Given the description of an element on the screen output the (x, y) to click on. 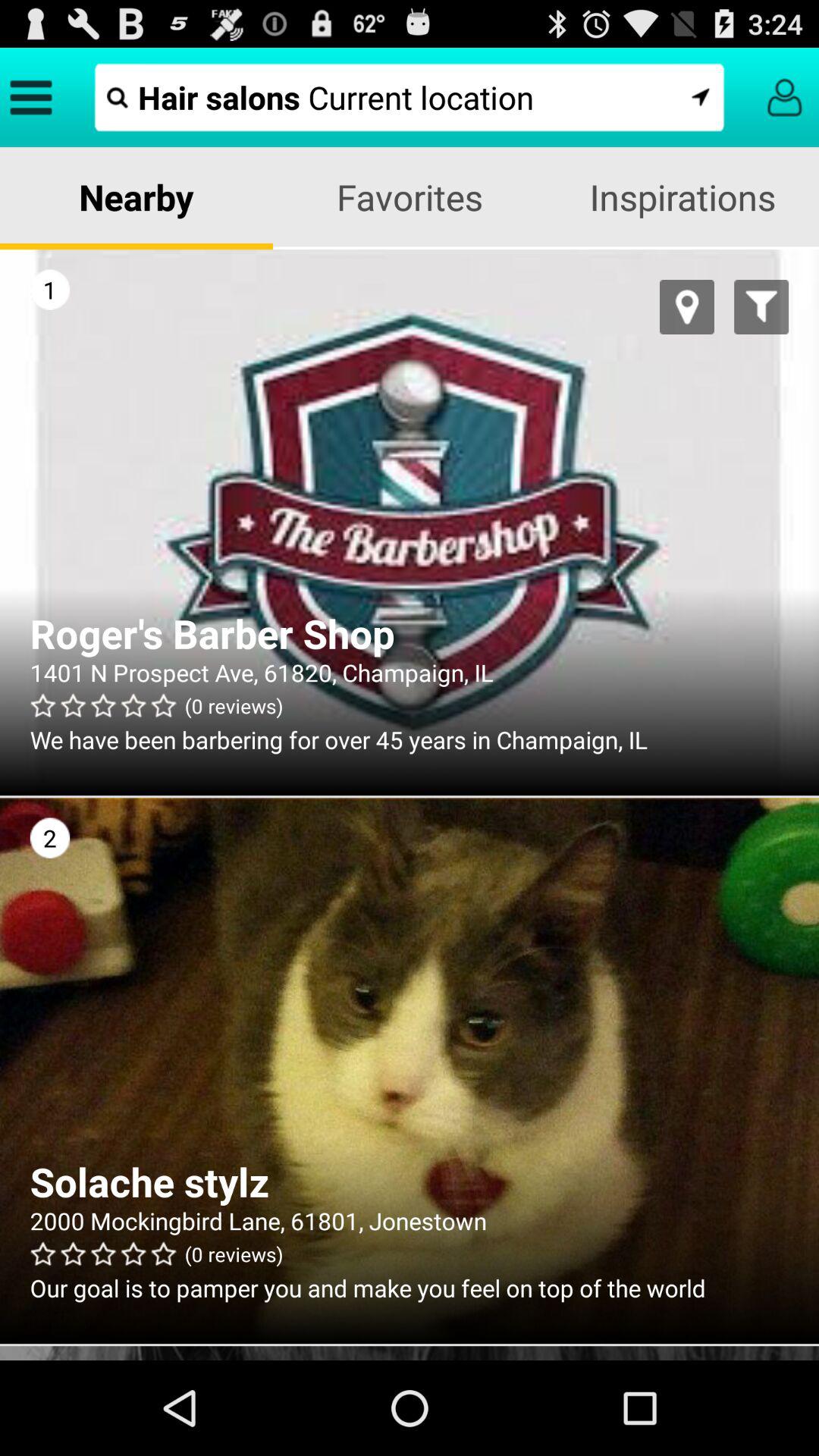
turn off the roger s barber (409, 632)
